Given the description of an element on the screen output the (x, y) to click on. 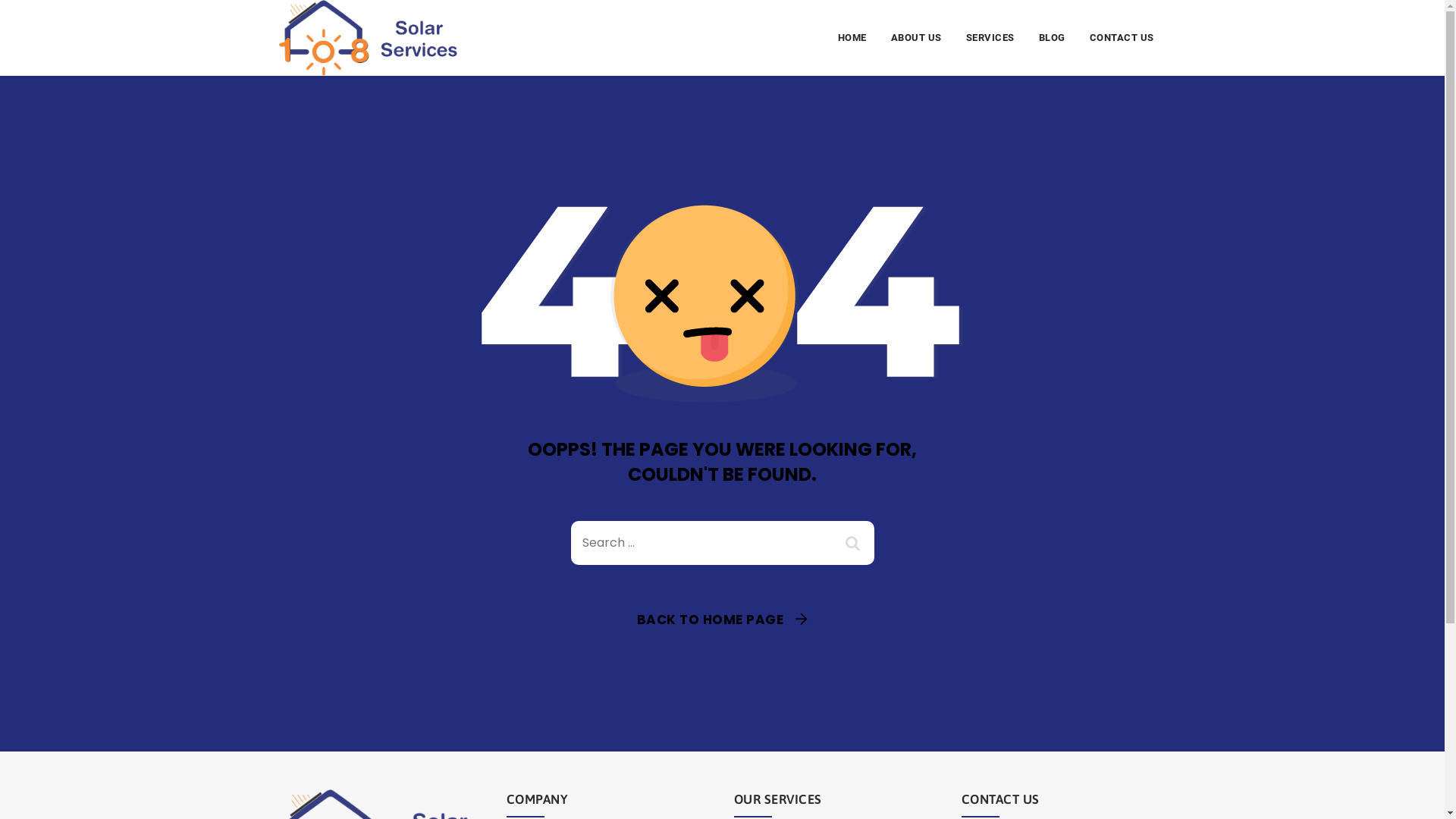
BLOG Element type: text (1051, 37)
ABOUT US Element type: text (915, 37)
HOME Element type: text (851, 37)
108 Solar Element type: hover (368, 37)
SERVICES Element type: text (990, 37)
BACK TO HOME PAGE Element type: text (722, 620)
CONTACT US Element type: text (1120, 37)
